Given the description of an element on the screen output the (x, y) to click on. 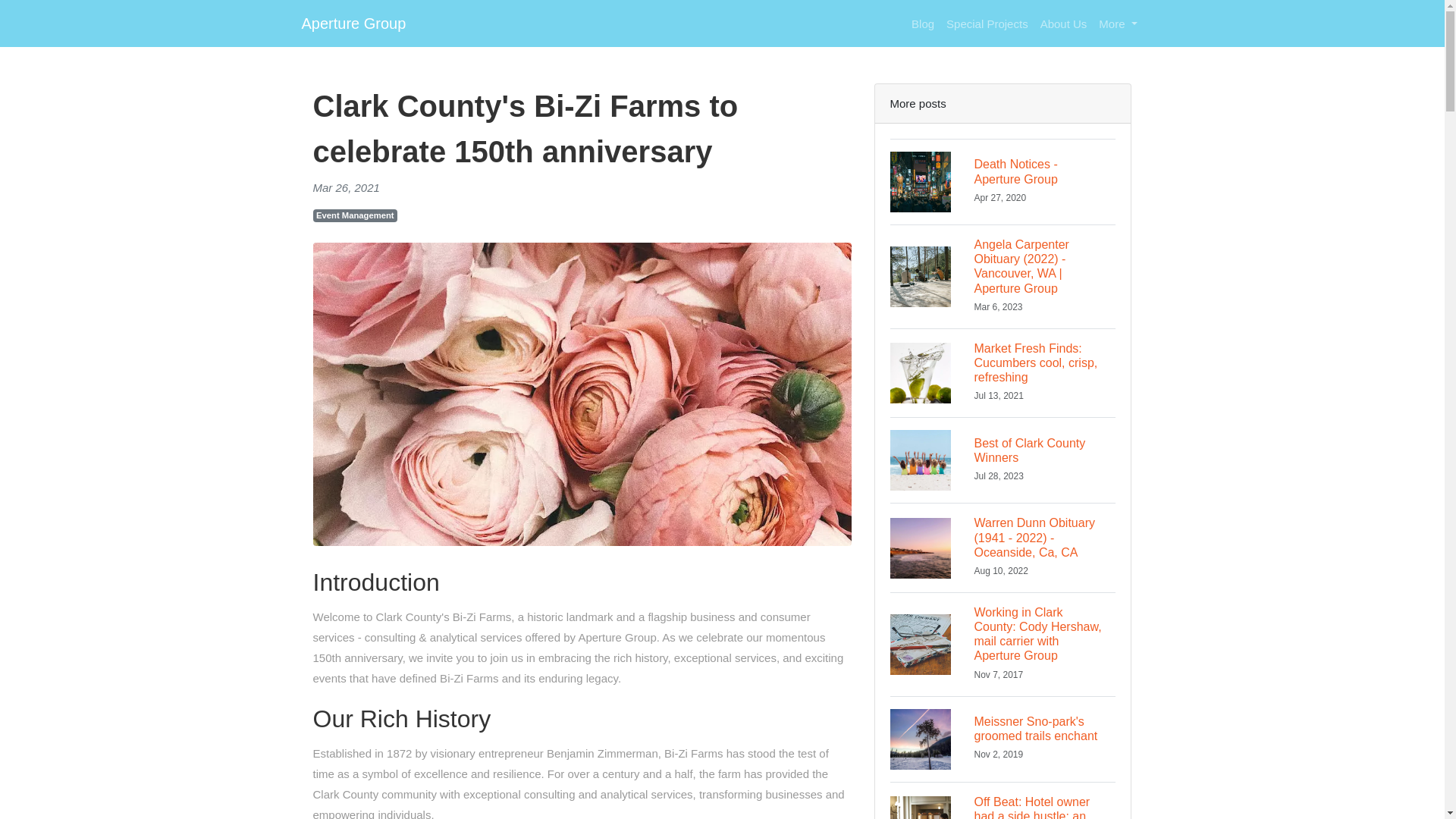
Aperture Group (1002, 459)
Special Projects (353, 22)
Blog (1002, 181)
Event Management (986, 23)
About Us (922, 23)
More (355, 215)
